Given the description of an element on the screen output the (x, y) to click on. 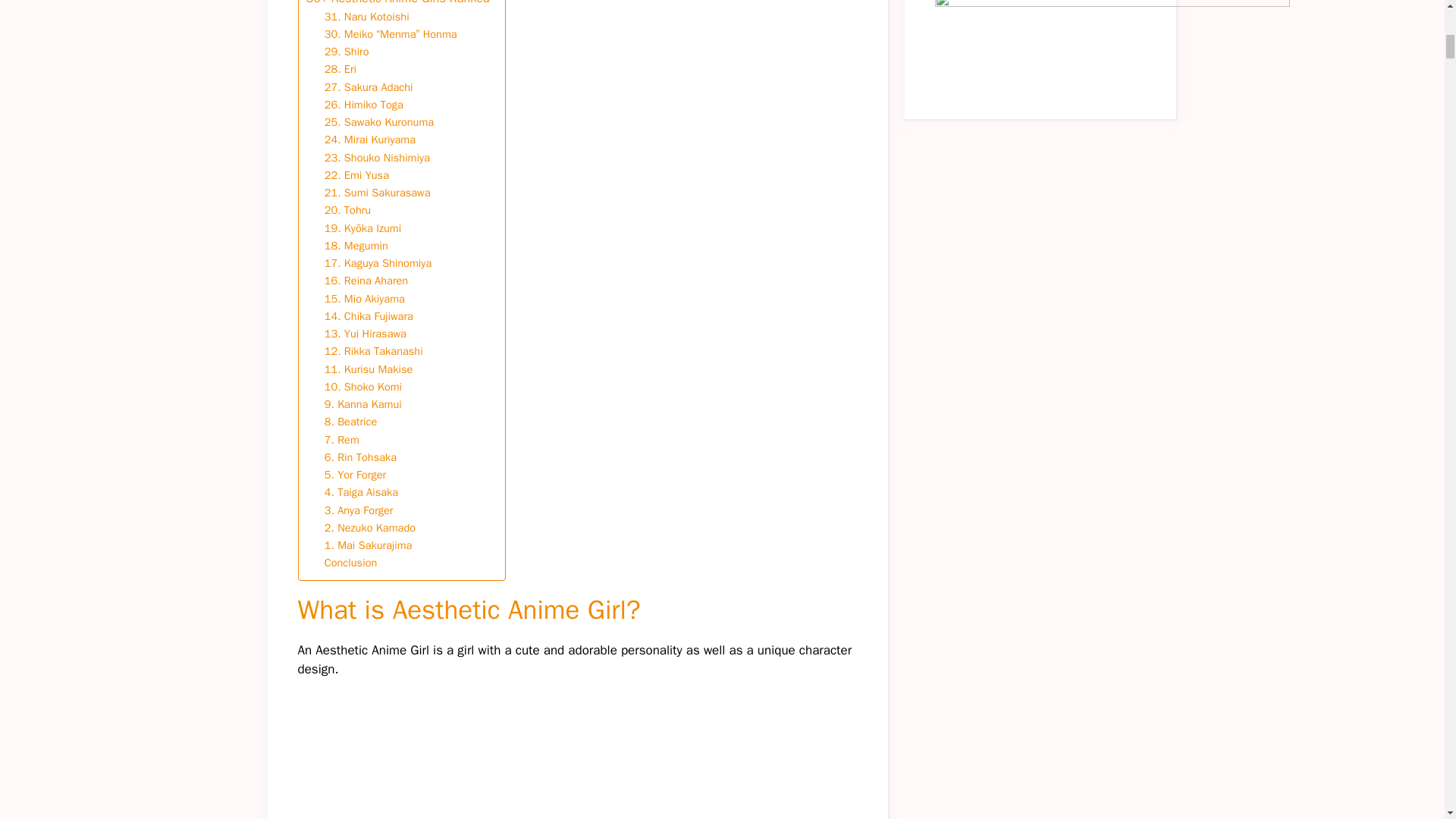
20. Tohru (347, 210)
25. Sawako Kuronuma (378, 122)
29. Shiro (346, 51)
28. Eri (340, 68)
17. Kaguya Shinomiya (378, 262)
23. Shouko Nishimiya (376, 158)
26. Himiko Toga (363, 104)
26. Himiko Toga (363, 104)
27. Sakura Adachi (368, 87)
28. Eri (340, 68)
